Given the description of an element on the screen output the (x, y) to click on. 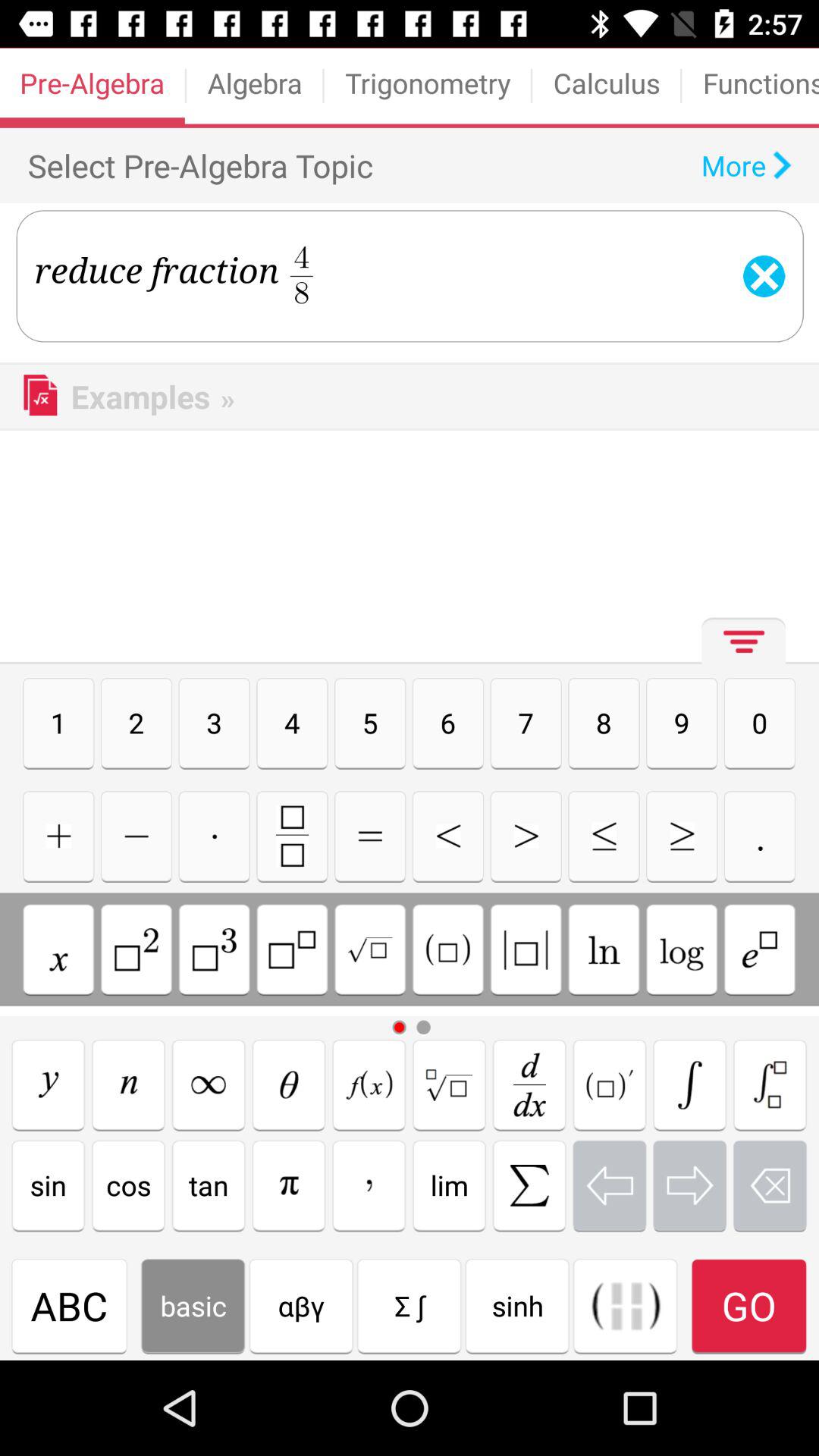
keywords button (759, 949)
